Given the description of an element on the screen output the (x, y) to click on. 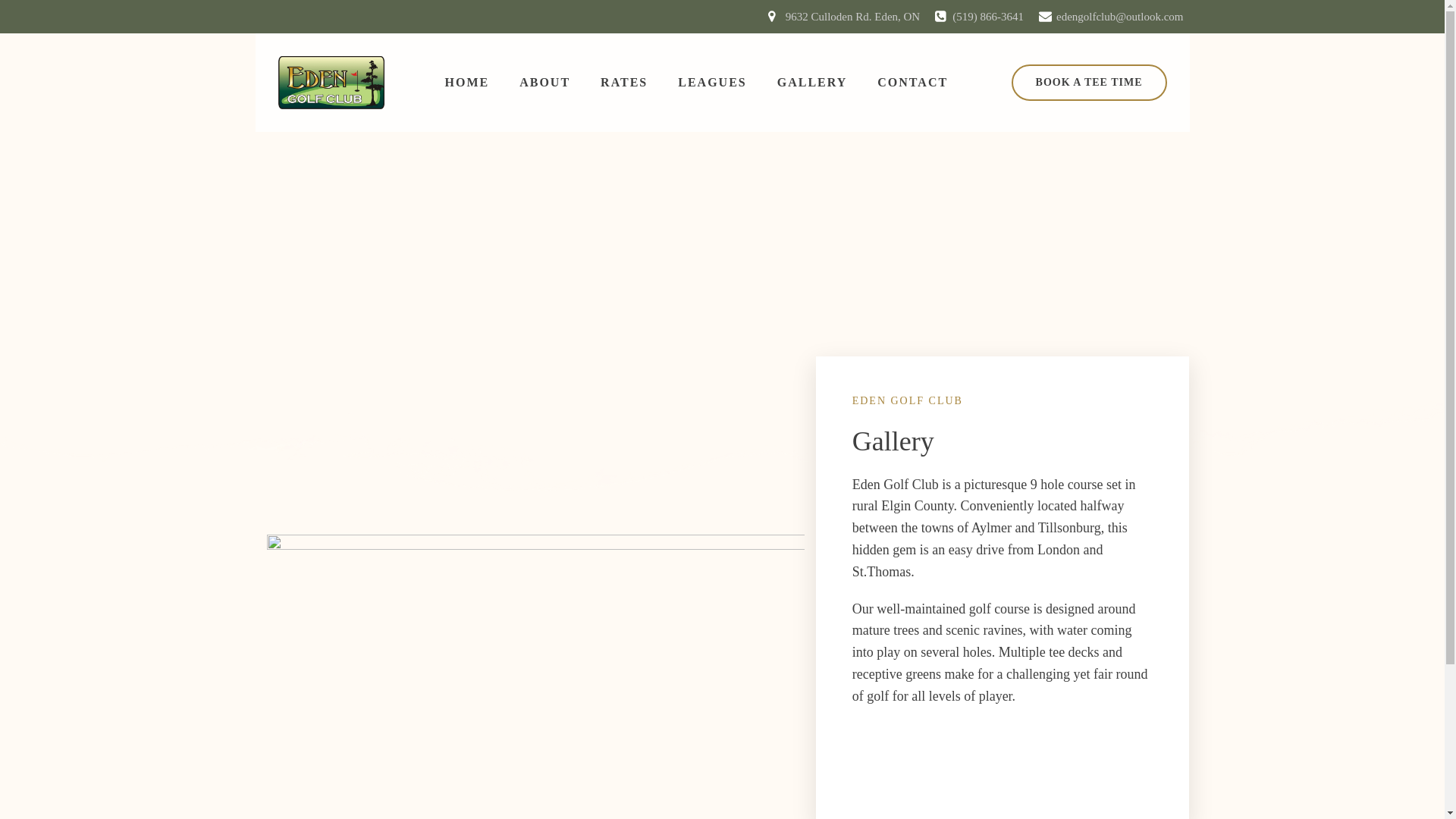
GALLERY (812, 82)
LEAGUES (711, 82)
RATES (623, 82)
CONTACT (912, 82)
HOME (466, 82)
BOOK A TEE TIME (1089, 82)
9632 Culloden Rd. Eden, ON (844, 16)
ABOUT (544, 82)
